Given the description of an element on the screen output the (x, y) to click on. 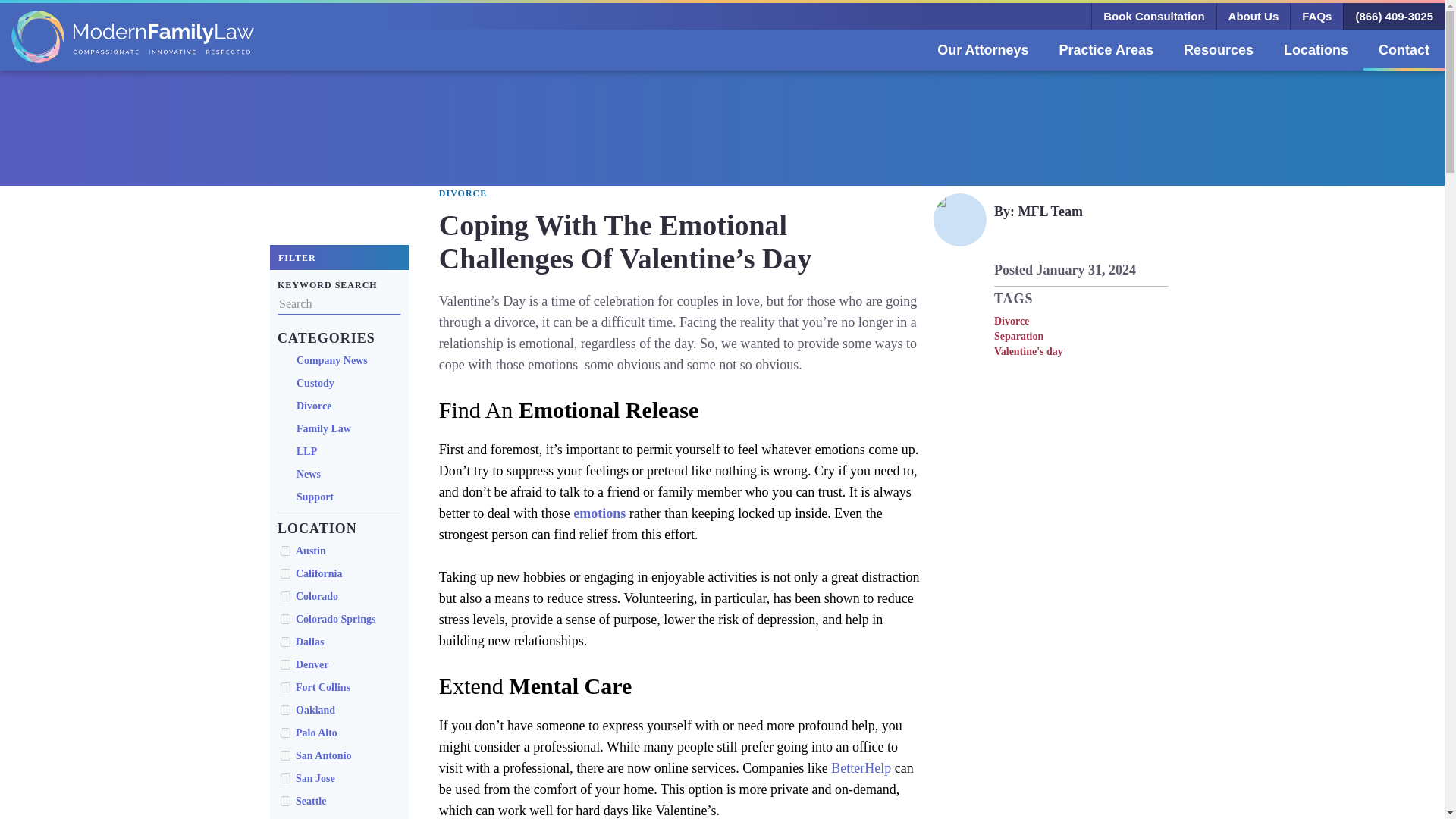
denver (285, 664)
About Us (1252, 16)
Resources (1218, 49)
palo-alto (285, 732)
colorado-springs (285, 619)
dallas (285, 642)
fort-collins (285, 687)
FAQs (1316, 16)
seattle (285, 800)
Locations (1315, 49)
